Given the description of an element on the screen output the (x, y) to click on. 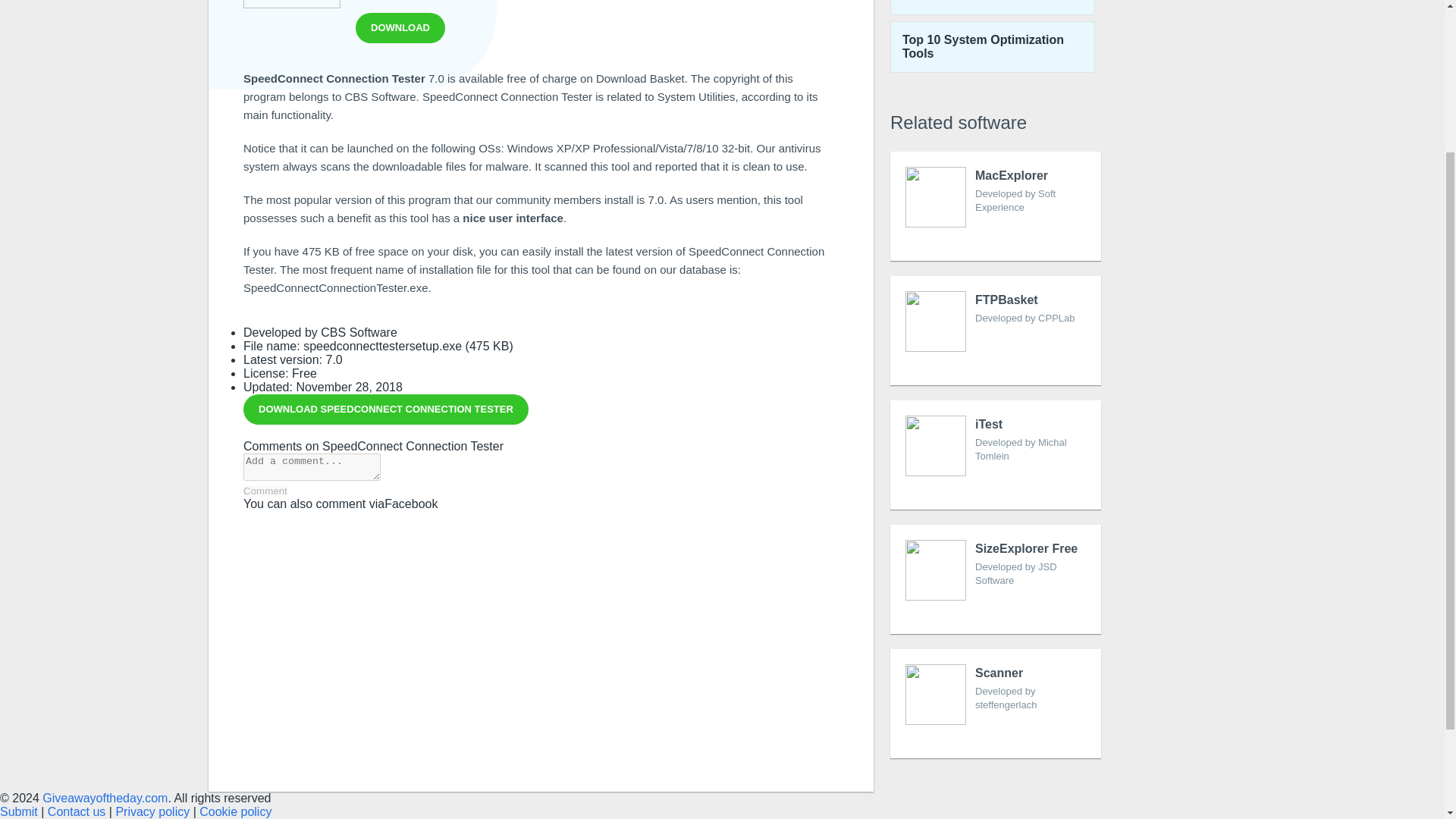
DOWNLOAD SPEEDCONNECT CONNECTION TESTER (994, 206)
Privacy policy (385, 409)
Download SpeedConnect Connection Tester 7.0 for free (152, 811)
Top 10 Remote Computing Tools for Windows (400, 28)
Cookie policy (991, 7)
Contact us (234, 811)
Download SpeedConnect Connection Tester 7.0 for free (76, 811)
